Given the description of an element on the screen output the (x, y) to click on. 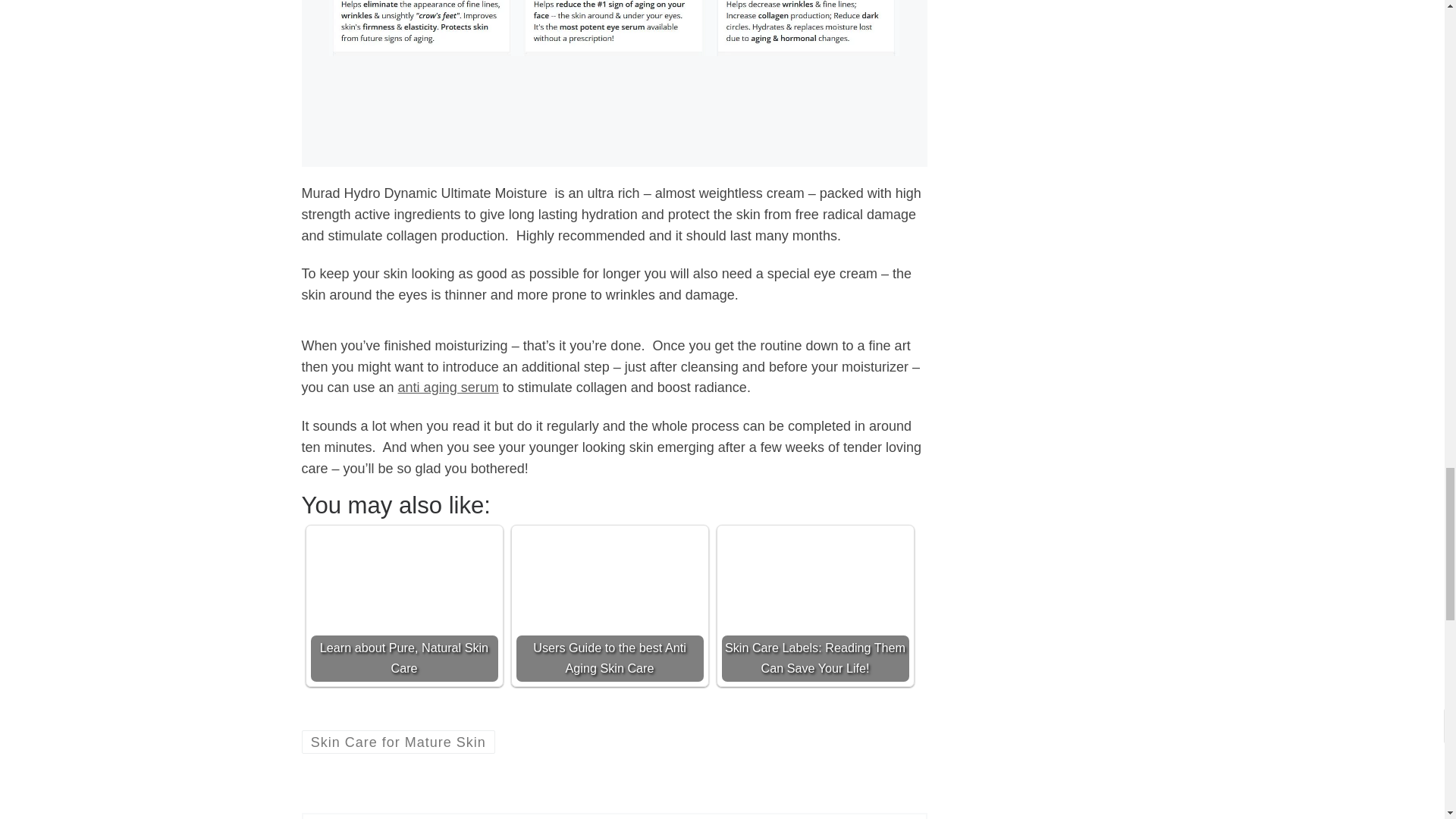
Learn about Pure, Natural Skin Care (404, 605)
Skin Care Labels: Reading Them Can Save Your Life! (815, 605)
Learn about Pure, Natural Skin Care (404, 623)
Users Guide to the best Anti Aging Skin Care (609, 623)
View all posts in Skin Care for Mature Skin (398, 741)
Skin Care Labels: Reading Them Can Save Your Life! (815, 623)
Skin Care for Mature Skin (398, 741)
anti aging serum (448, 387)
Users Guide to the best Anti Aging Skin Care (609, 605)
anti aging serum (448, 387)
